Given the description of an element on the screen output the (x, y) to click on. 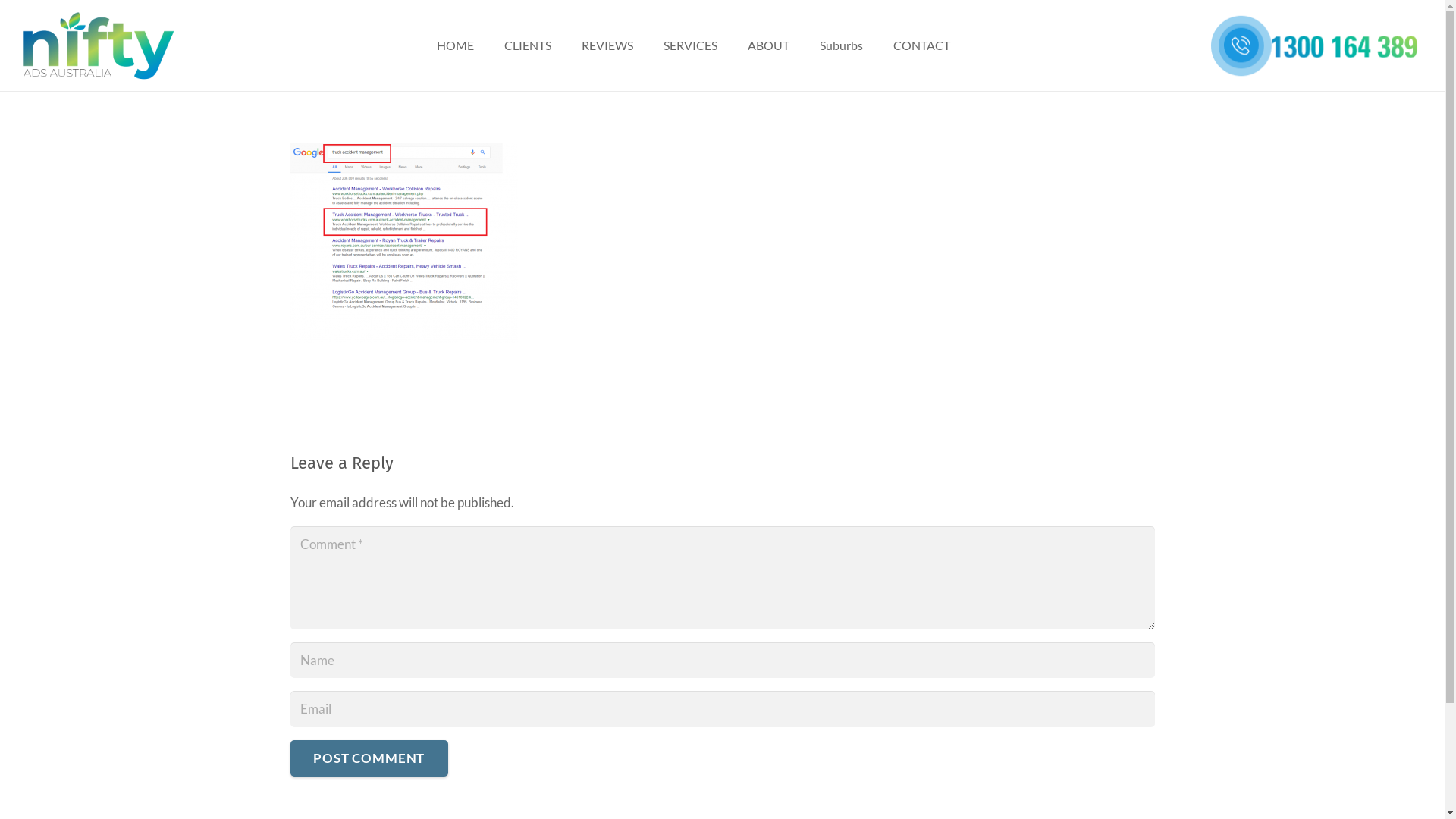
CLIENTS Element type: text (527, 45)
POST COMMENT Element type: text (368, 758)
CONTACT Element type: text (921, 45)
SERVICES Element type: text (690, 45)
HOME Element type: text (455, 45)
Suburbs Element type: text (841, 45)
REVIEWS Element type: text (607, 45)
ABOUT Element type: text (768, 45)
